Given the description of an element on the screen output the (x, y) to click on. 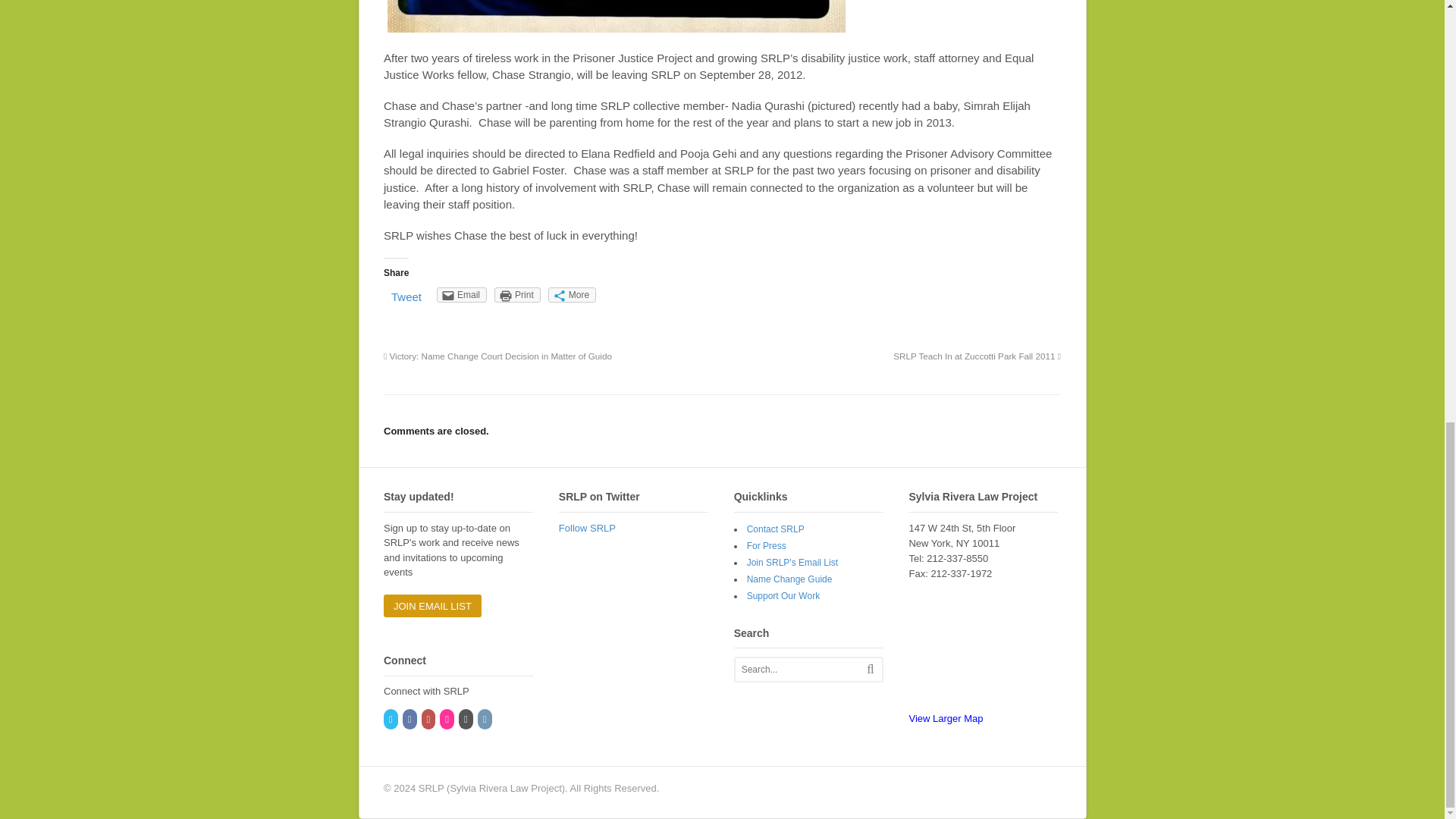
YouTube (430, 719)
Twitter (391, 719)
Click to print (517, 294)
Flickr (447, 719)
Click to email this to a friend (461, 294)
Facebook (411, 719)
Chase and Nadia (616, 18)
Search... (803, 669)
